Given the description of an element on the screen output the (x, y) to click on. 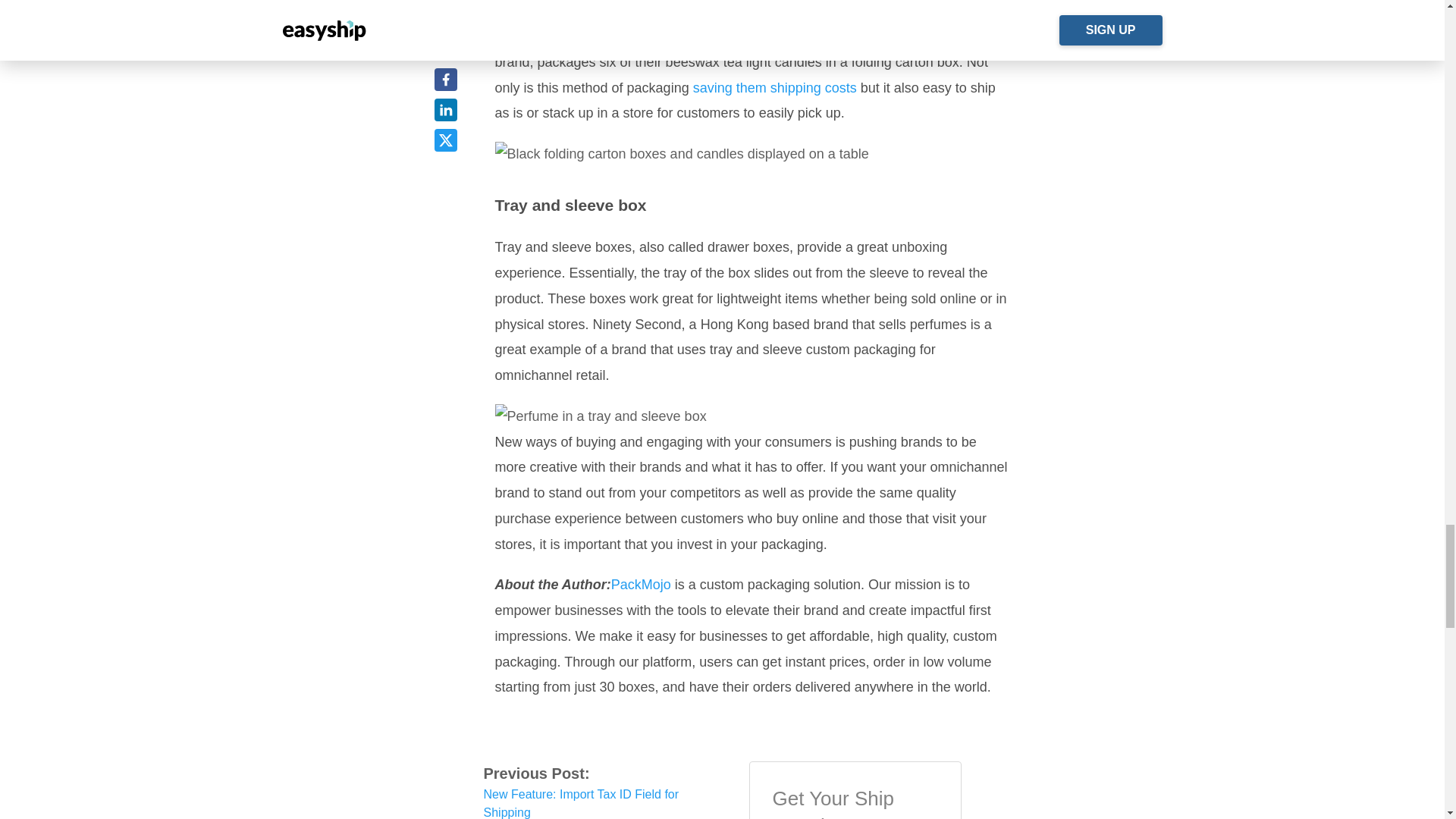
New Feature: Import Tax ID Field for Shipping (581, 803)
PackMojo (641, 584)
saving them shipping costs (775, 87)
